Given the description of an element on the screen output the (x, y) to click on. 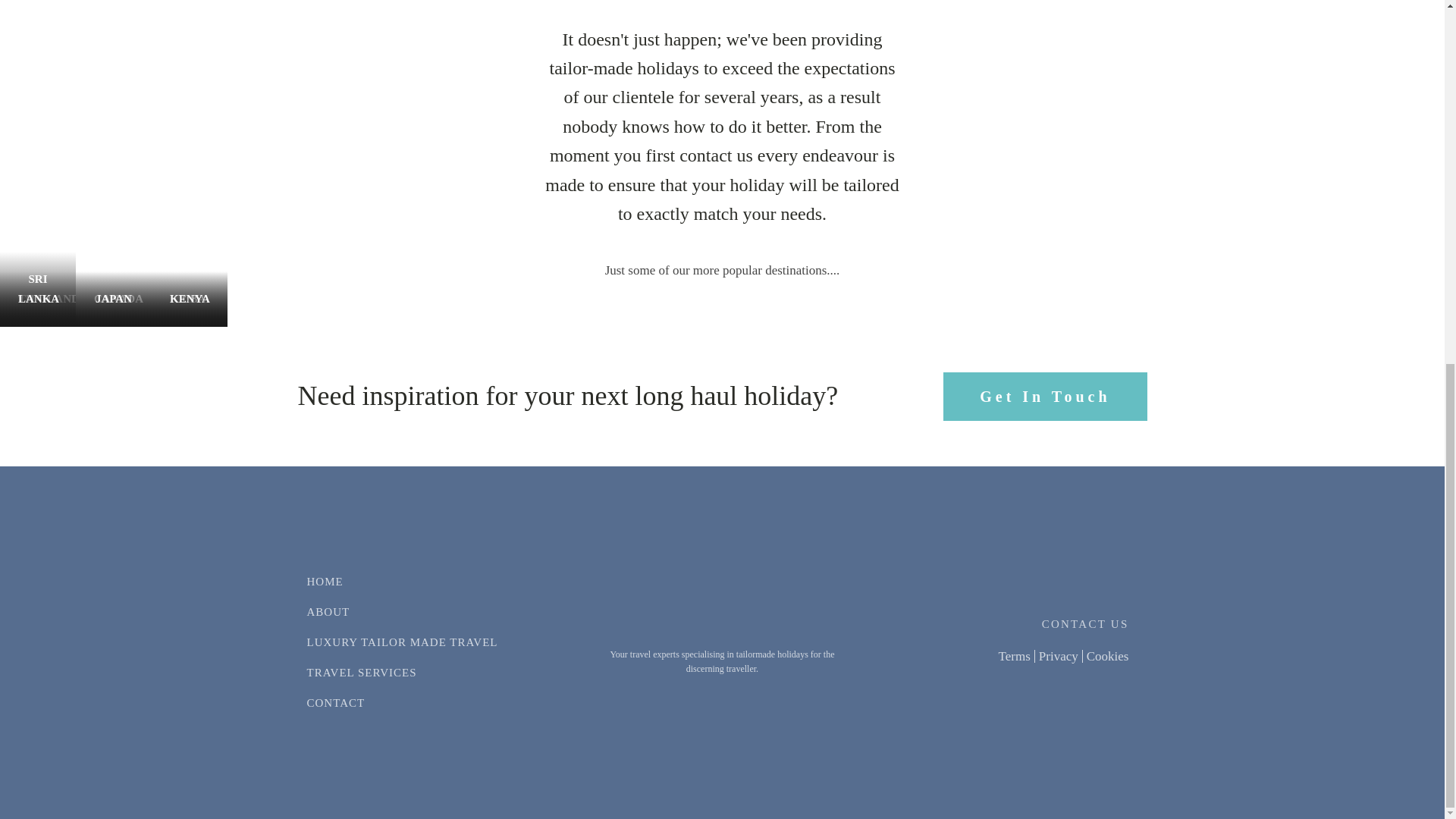
CONTACT US (1085, 624)
HOME (402, 581)
Get In Touch (1045, 396)
Privacy (1059, 656)
Cookies (1106, 656)
ABOUT (402, 612)
CONTACT (402, 702)
LUXURY TAILOR MADE TRAVEL (402, 642)
TRAVEL SERVICES (402, 672)
Terms (1016, 656)
